Given the description of an element on the screen output the (x, y) to click on. 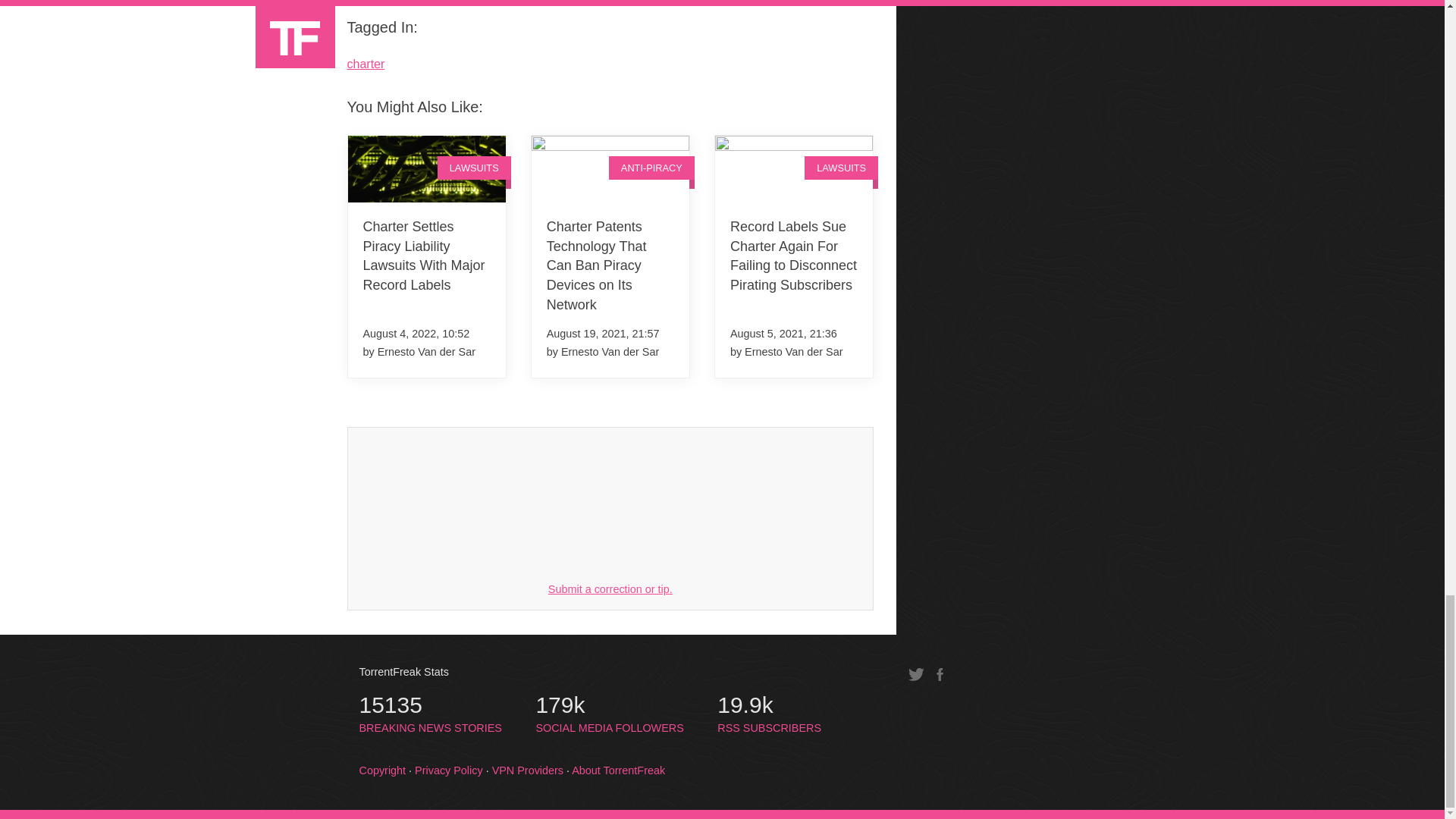
Submit a correction or tip. (769, 714)
charter (608, 714)
Copyright (610, 589)
